Given the description of an element on the screen output the (x, y) to click on. 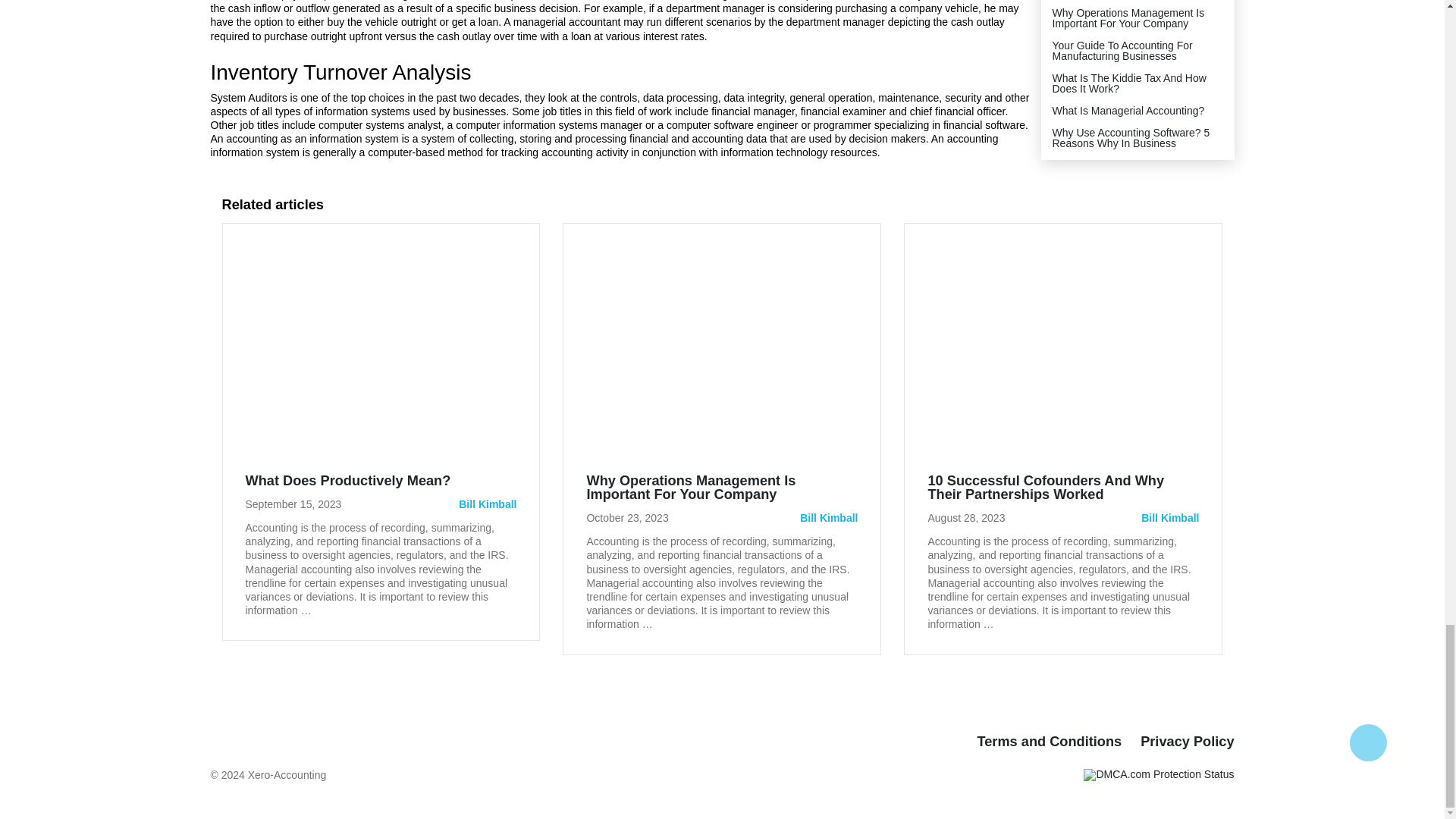
Bill Kimball (487, 503)
10 Successful Cofounders And Why Their Partnerships Worked (1062, 494)
Privacy Policy (1186, 741)
What Does Productively Mean? (348, 481)
DMCA.com Protection Status (1158, 774)
Bill Kimball (1169, 517)
Why Operations Management Is Important For Your Company (721, 494)
Terms and Conditions (1048, 741)
Bill Kimball (828, 517)
